Given the description of an element on the screen output the (x, y) to click on. 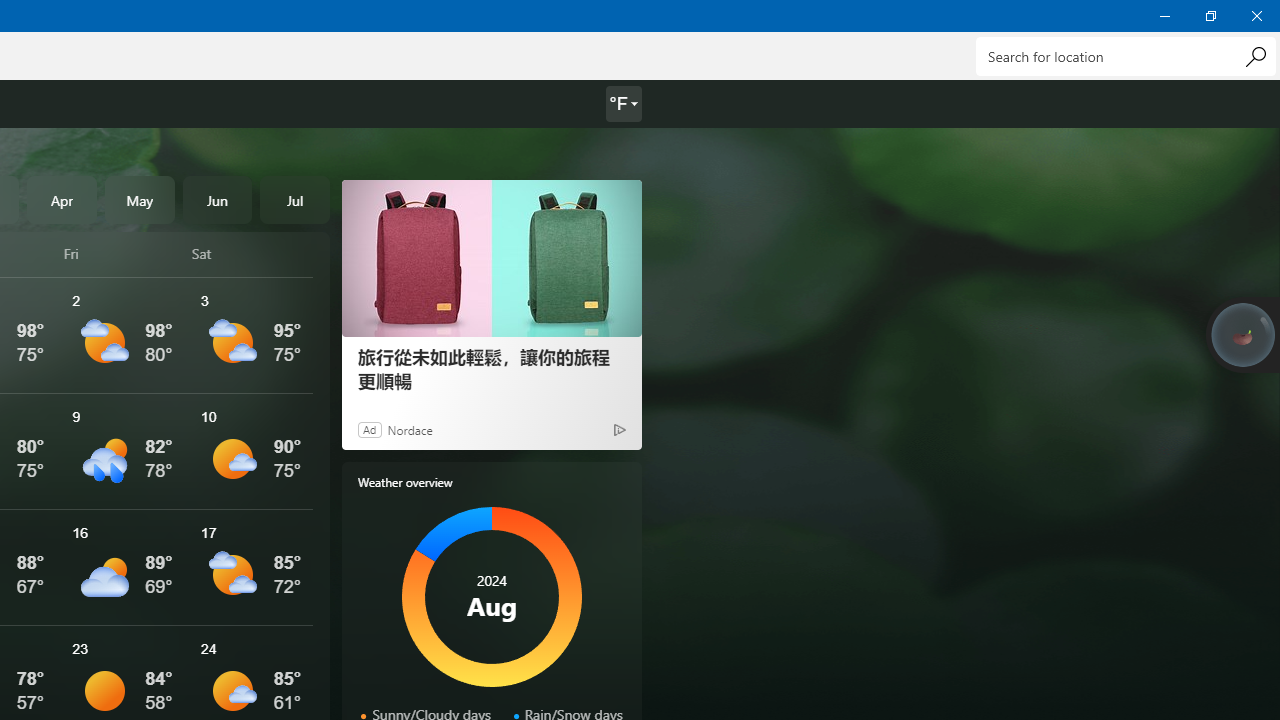
Restore Weather (1210, 15)
Minimize Weather (1164, 15)
Search for location (1125, 56)
Search (1255, 56)
Close Weather (1256, 15)
